Given the description of an element on the screen output the (x, y) to click on. 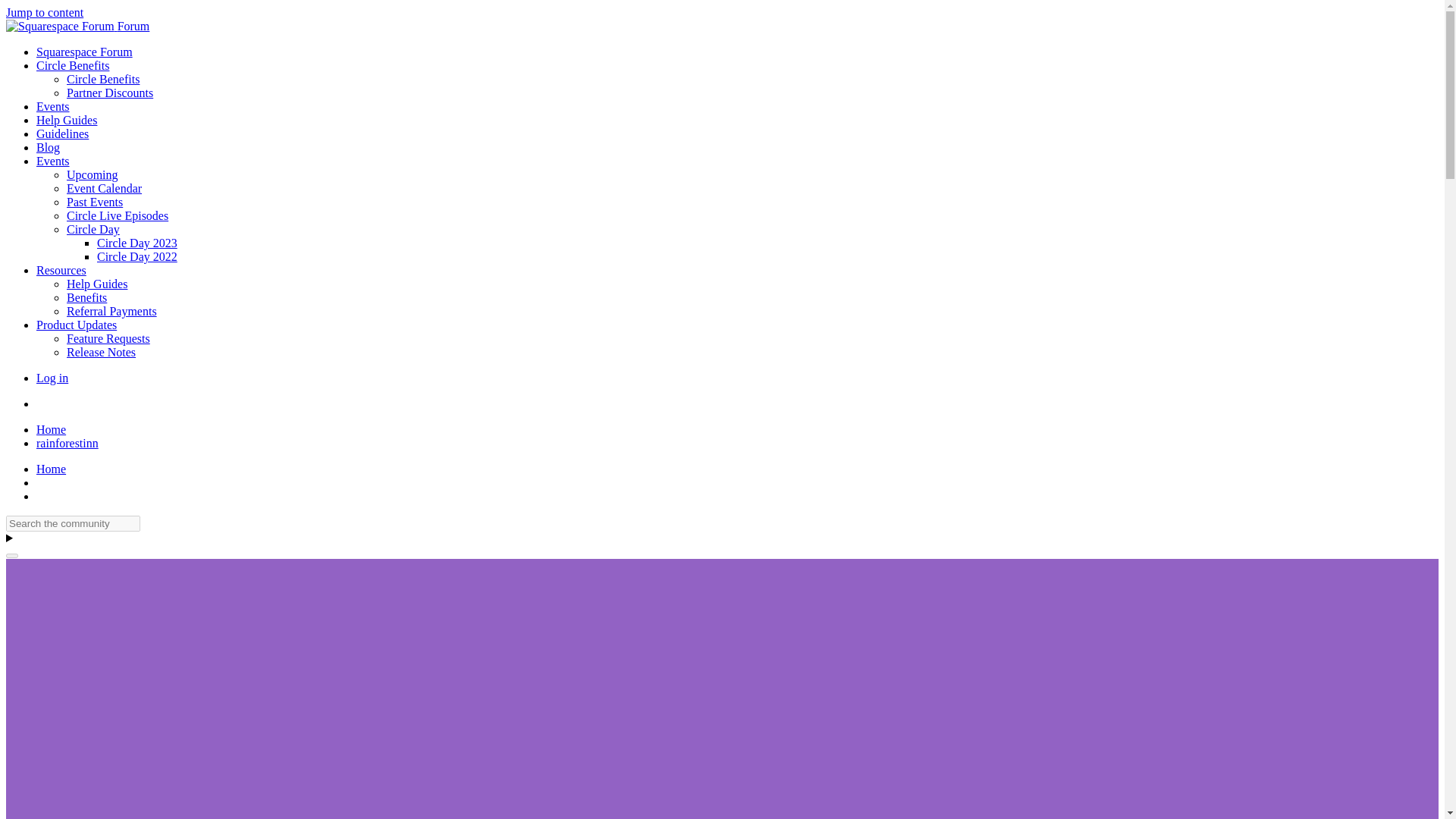
Benefits (86, 297)
Circle Benefits (102, 78)
Log in (52, 377)
Home (50, 429)
Home (50, 468)
Home (50, 429)
Circle Live Episodes (117, 215)
Event Calendar (103, 187)
Jump to content (43, 11)
Circle Day 2023 (137, 242)
Help Guides (66, 119)
Guidelines (62, 133)
Circle Day (92, 228)
Events (52, 160)
Blog (47, 146)
